Given the description of an element on the screen output the (x, y) to click on. 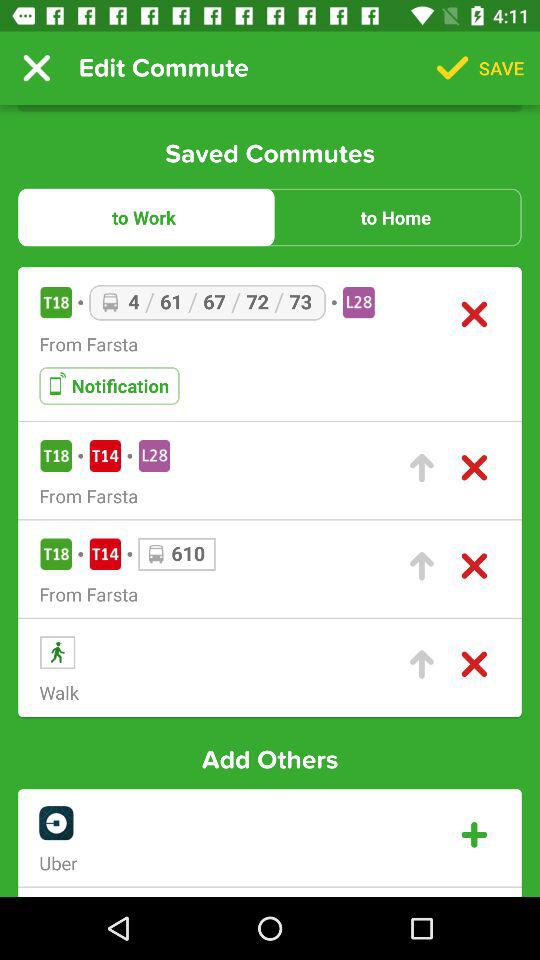
remove (474, 664)
